Given the description of an element on the screen output the (x, y) to click on. 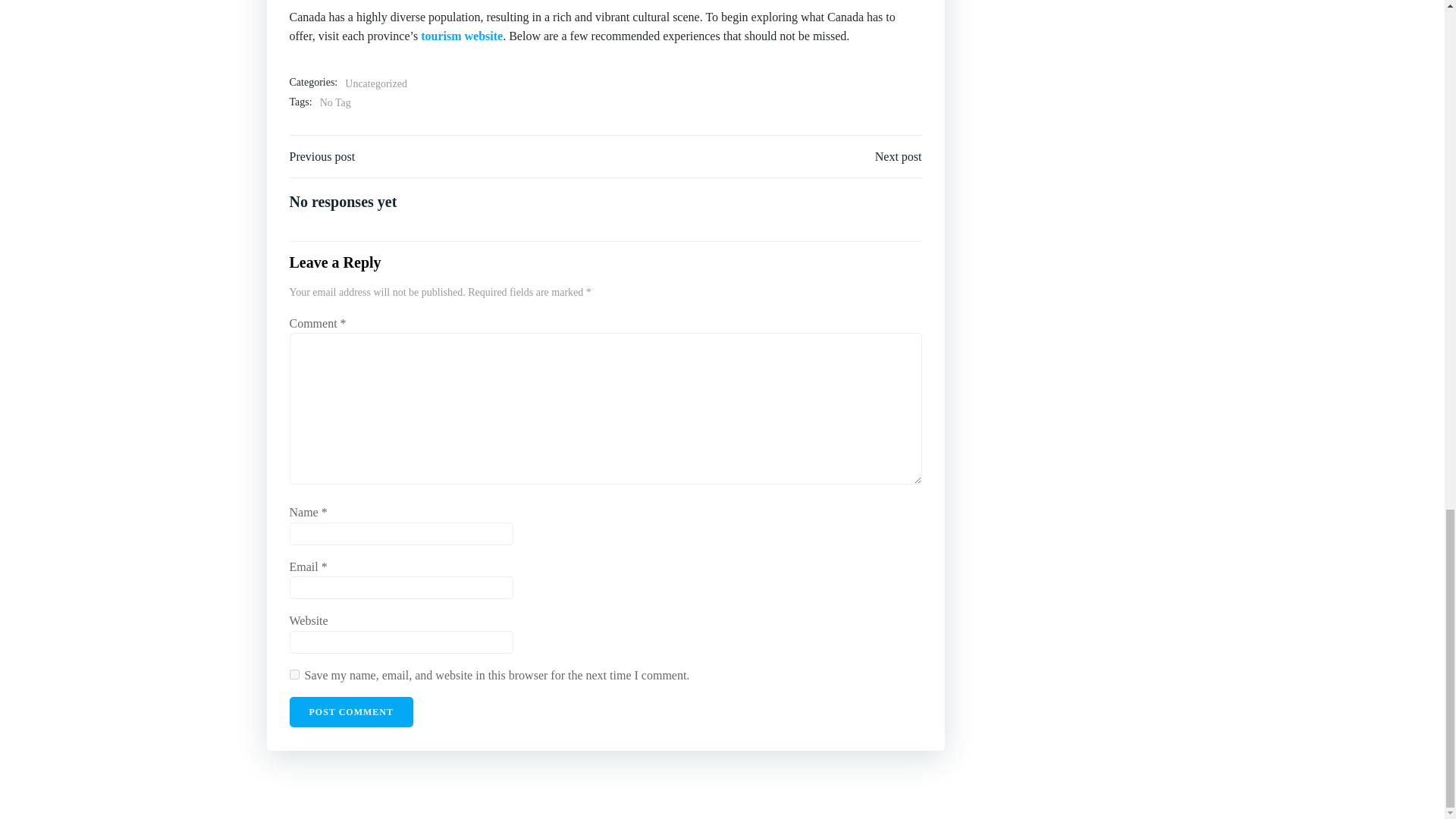
Next post (898, 157)
Uncategorized (376, 84)
tourism website (461, 35)
Post Comment (351, 711)
Previous post (322, 157)
Post Comment (351, 711)
yes (294, 674)
